Given the description of an element on the screen output the (x, y) to click on. 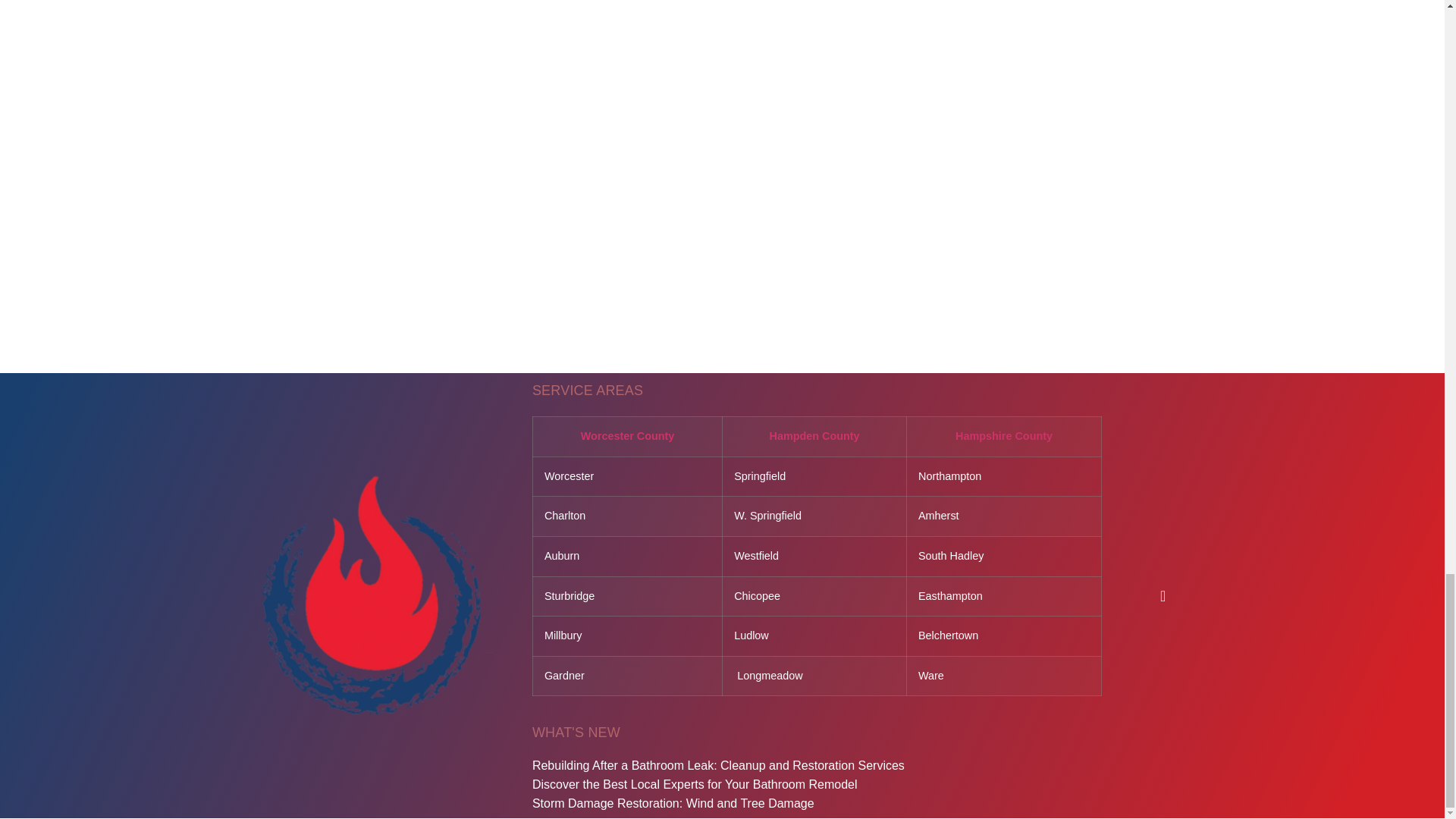
Hampshire County (1003, 435)
Springfield (759, 476)
Northampton (949, 476)
Charlton (564, 515)
Worcester (569, 476)
Hampden County (813, 435)
Worcester County (627, 435)
